Given the description of an element on the screen output the (x, y) to click on. 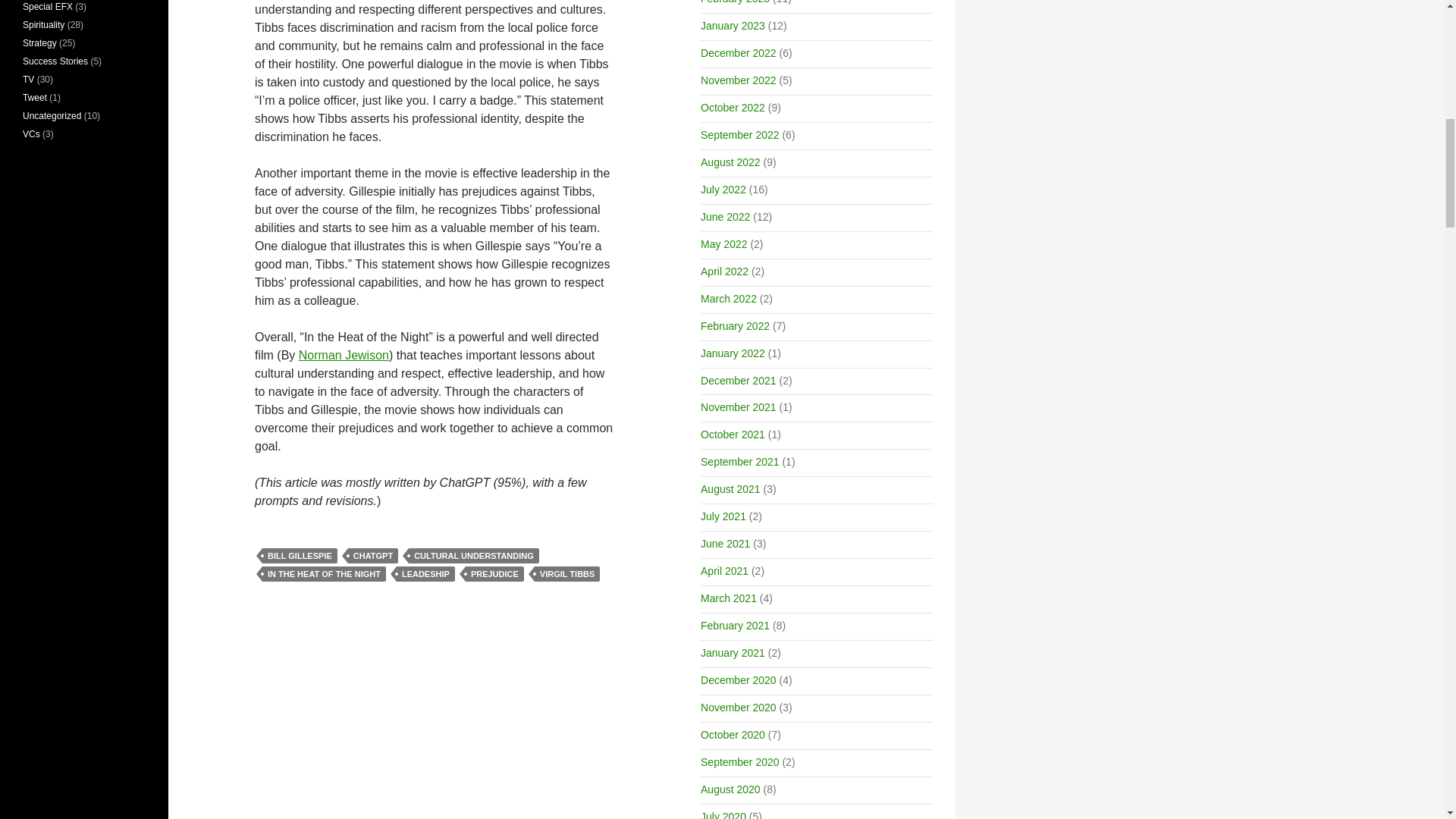
IN THE HEAT OF THE NIGHT (323, 573)
Norman Jewison (343, 354)
CULTURAL UNDERSTANDING (473, 555)
VIRGIL TIBBS (566, 573)
CHATGPT (372, 555)
Norman Jewison (343, 354)
LEADESHIP (425, 573)
BILL GILLESPIE (299, 555)
PREJUDICE (494, 573)
